Given the description of an element on the screen output the (x, y) to click on. 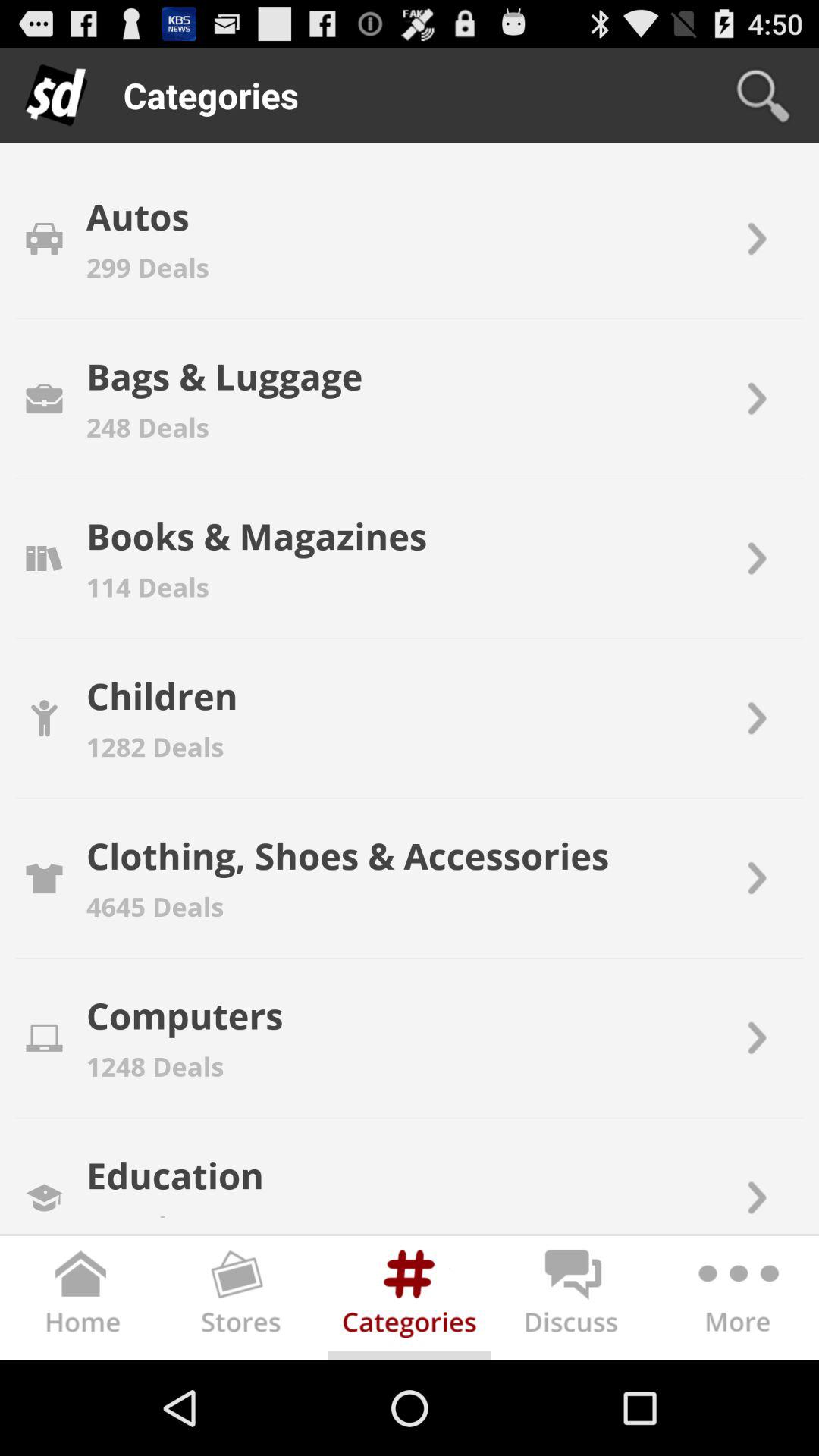
click more option (736, 1300)
